Given the description of an element on the screen output the (x, y) to click on. 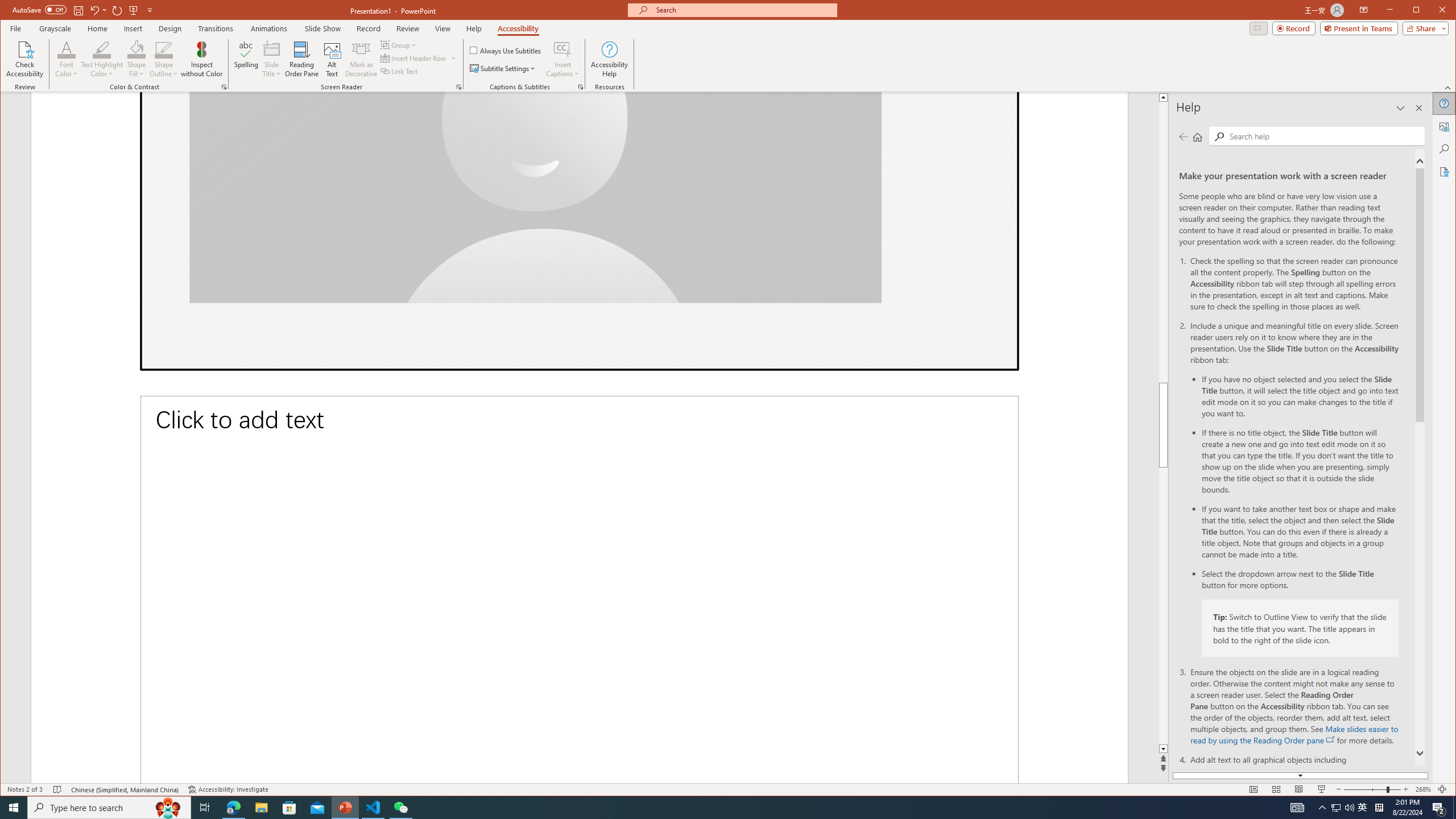
Reading Order Pane (301, 59)
Subtitle Settings (502, 68)
